Given the description of an element on the screen output the (x, y) to click on. 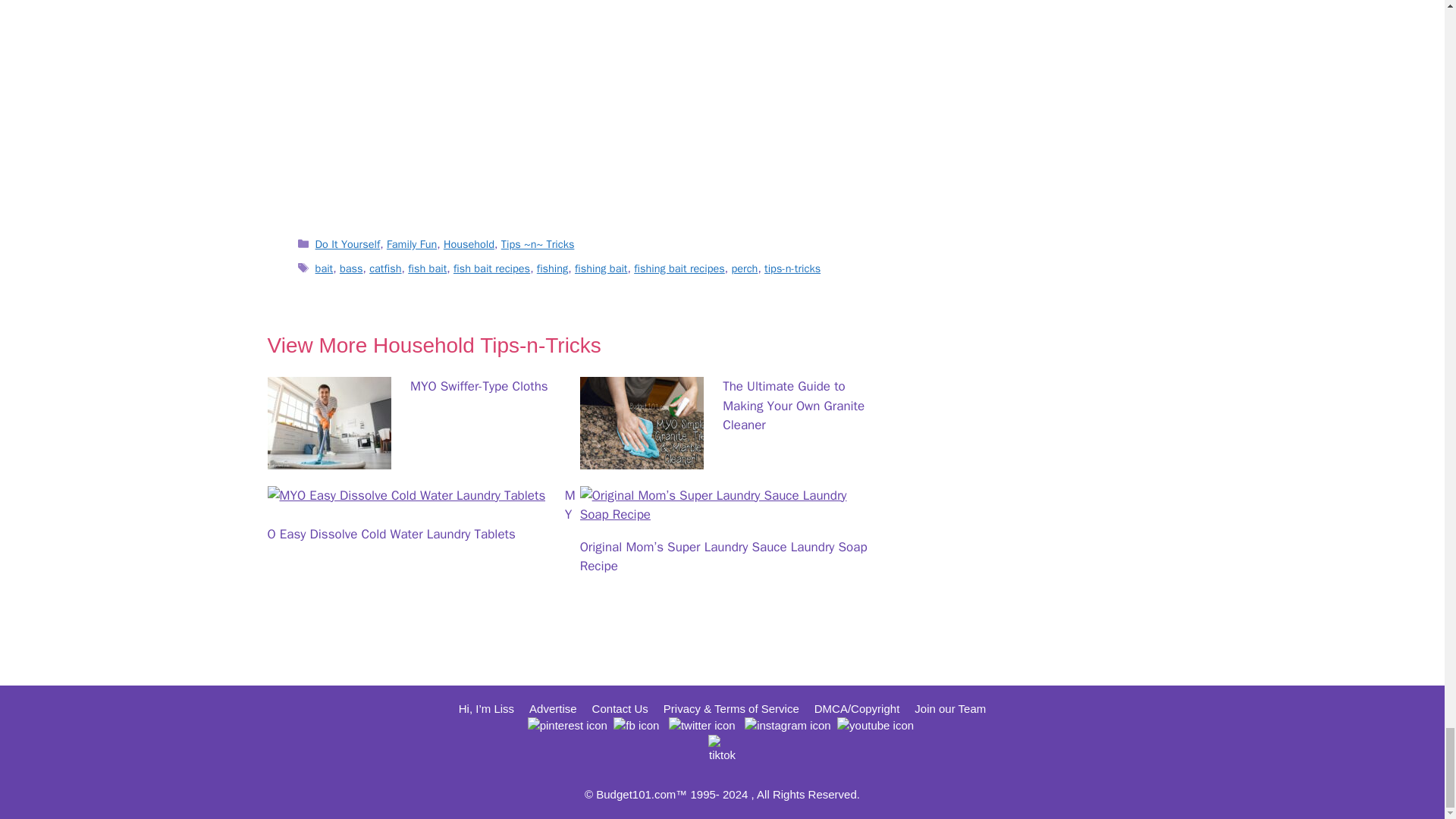
MYO Swiffer-Type Cloths (328, 459)
b101 striper bait recipe (577, 107)
